Given the description of an element on the screen output the (x, y) to click on. 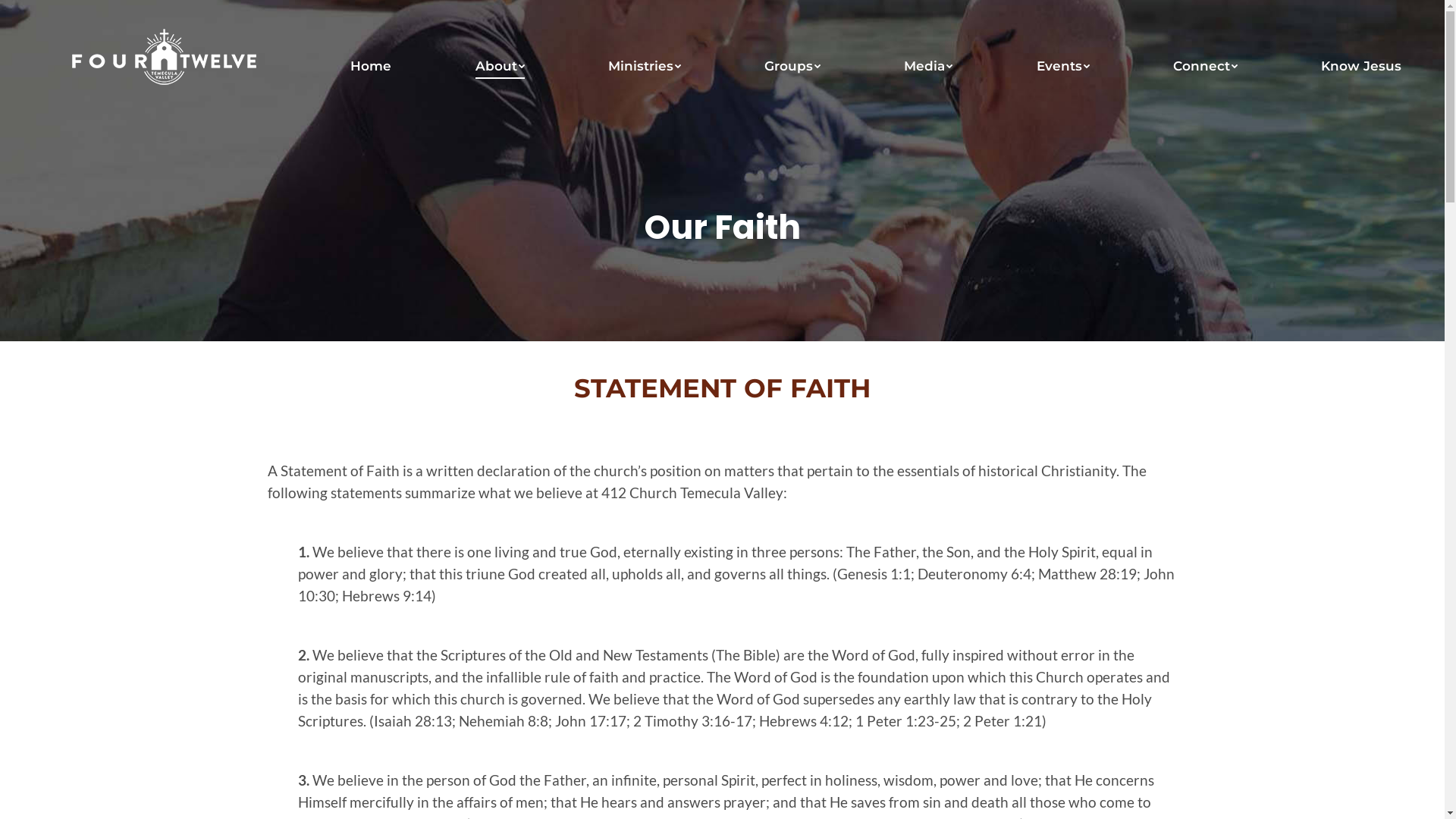
Home Element type: text (370, 66)
Groups Element type: text (792, 66)
Know Jesus Element type: text (1360, 66)
Connect Element type: text (1204, 66)
About Element type: text (500, 66)
Media Element type: text (927, 66)
Ministries Element type: text (644, 66)
Events Element type: text (1063, 66)
